Given the description of an element on the screen output the (x, y) to click on. 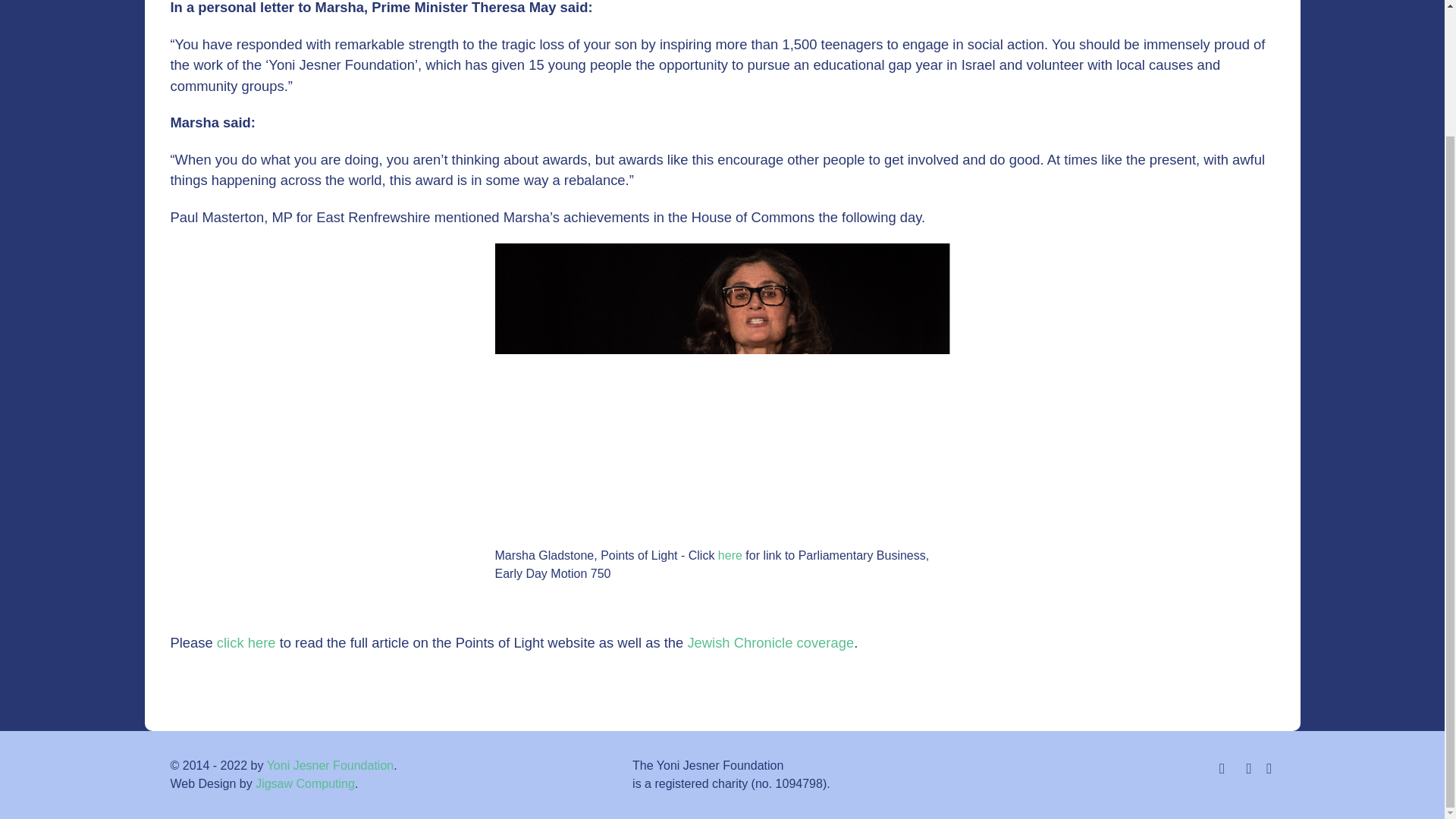
Yoni Jesner Foundation (330, 765)
Jigsaw Computing (305, 783)
